Given the description of an element on the screen output the (x, y) to click on. 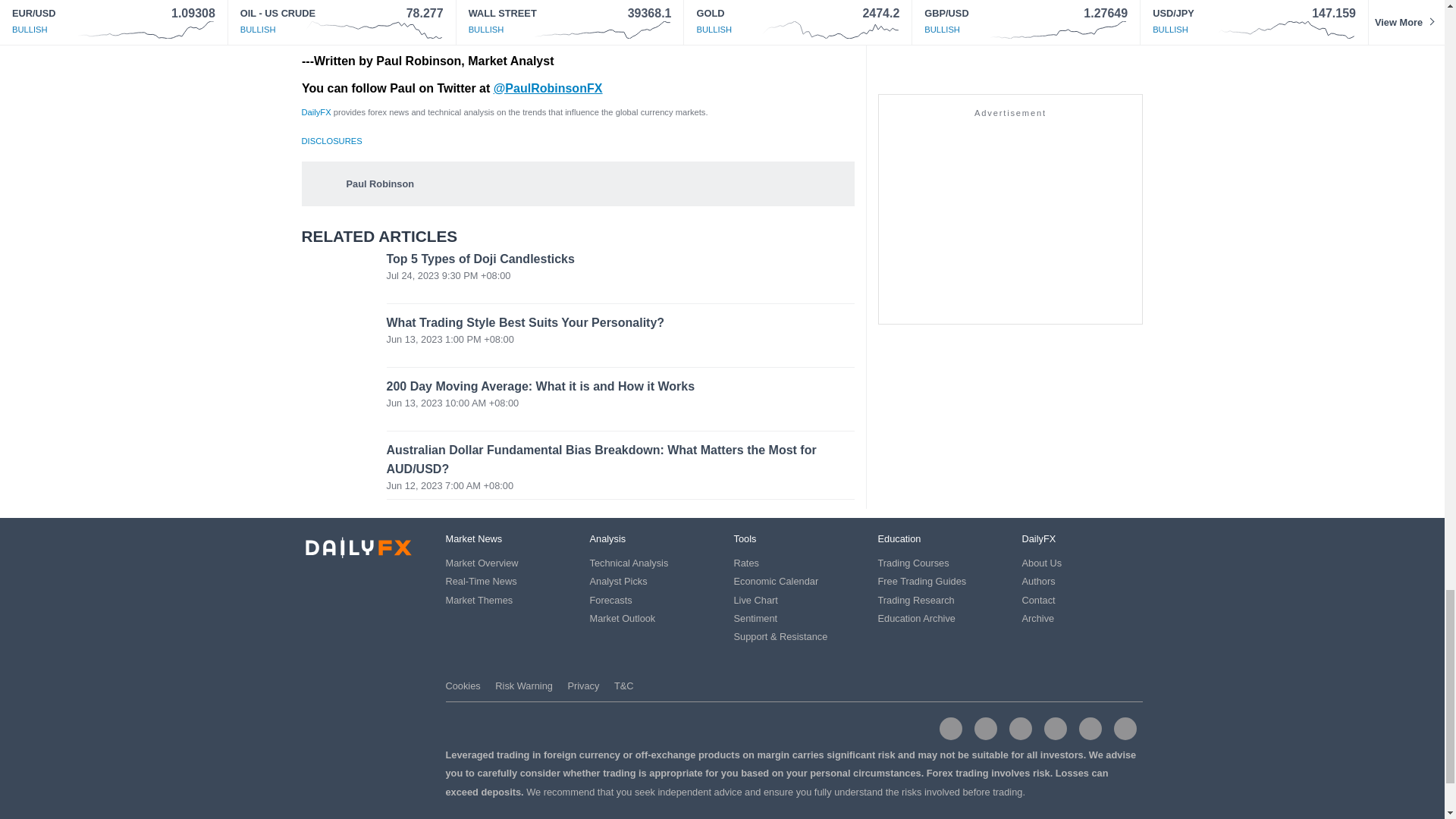
Market Outlook (622, 618)
Analysis (607, 538)
Analyst Picks (618, 581)
Market News (473, 538)
Market Overview (481, 562)
Real-Time News (480, 581)
Technical Analysis (628, 562)
Market Themes (479, 600)
Tools (745, 538)
Forecasts (610, 600)
